Given the description of an element on the screen output the (x, y) to click on. 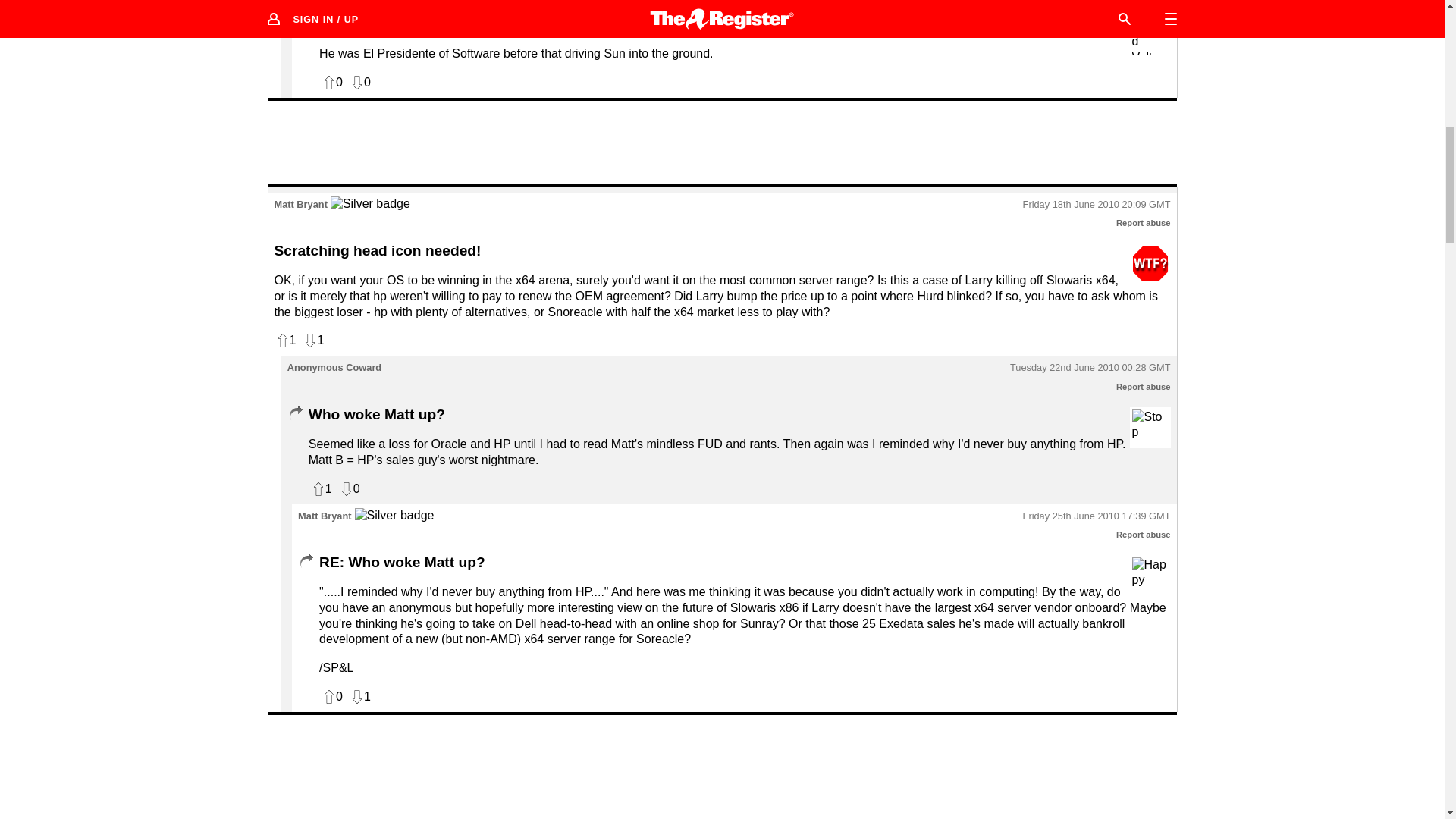
Report abuse (1143, 0)
Report abuse (1143, 222)
Report abuse (1143, 533)
Report abuse (1143, 386)
